Given the description of an element on the screen output the (x, y) to click on. 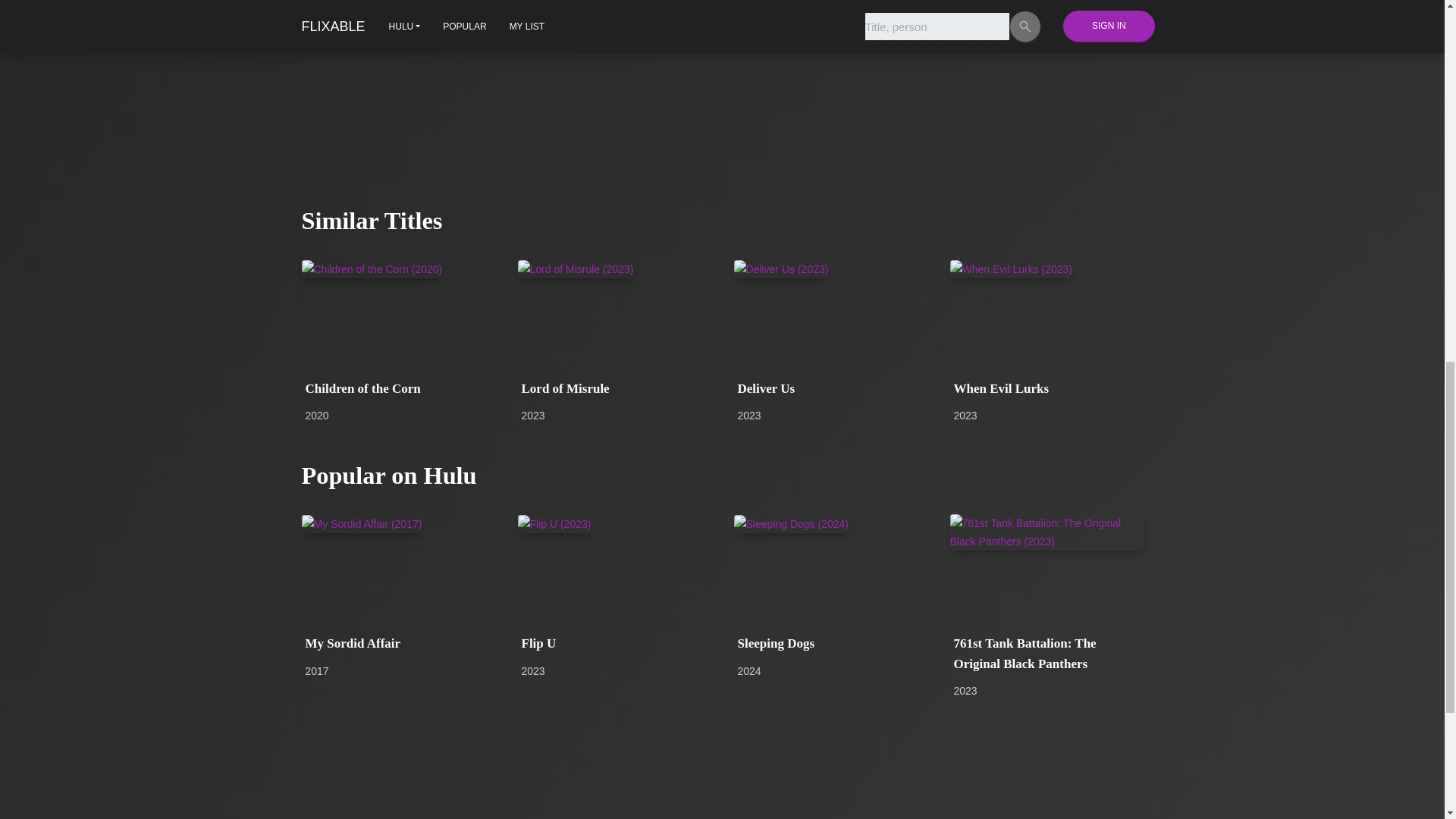
When Evil Lurks (1046, 388)
761st Tank Battalion: The Original Black Panthers (1046, 653)
Deliver Us (829, 388)
Sleeping Dogs (829, 643)
My Sordid Affair (397, 643)
Children of the Corn (397, 388)
Flip U (614, 643)
Lord of Misrule (614, 388)
